Given the description of an element on the screen output the (x, y) to click on. 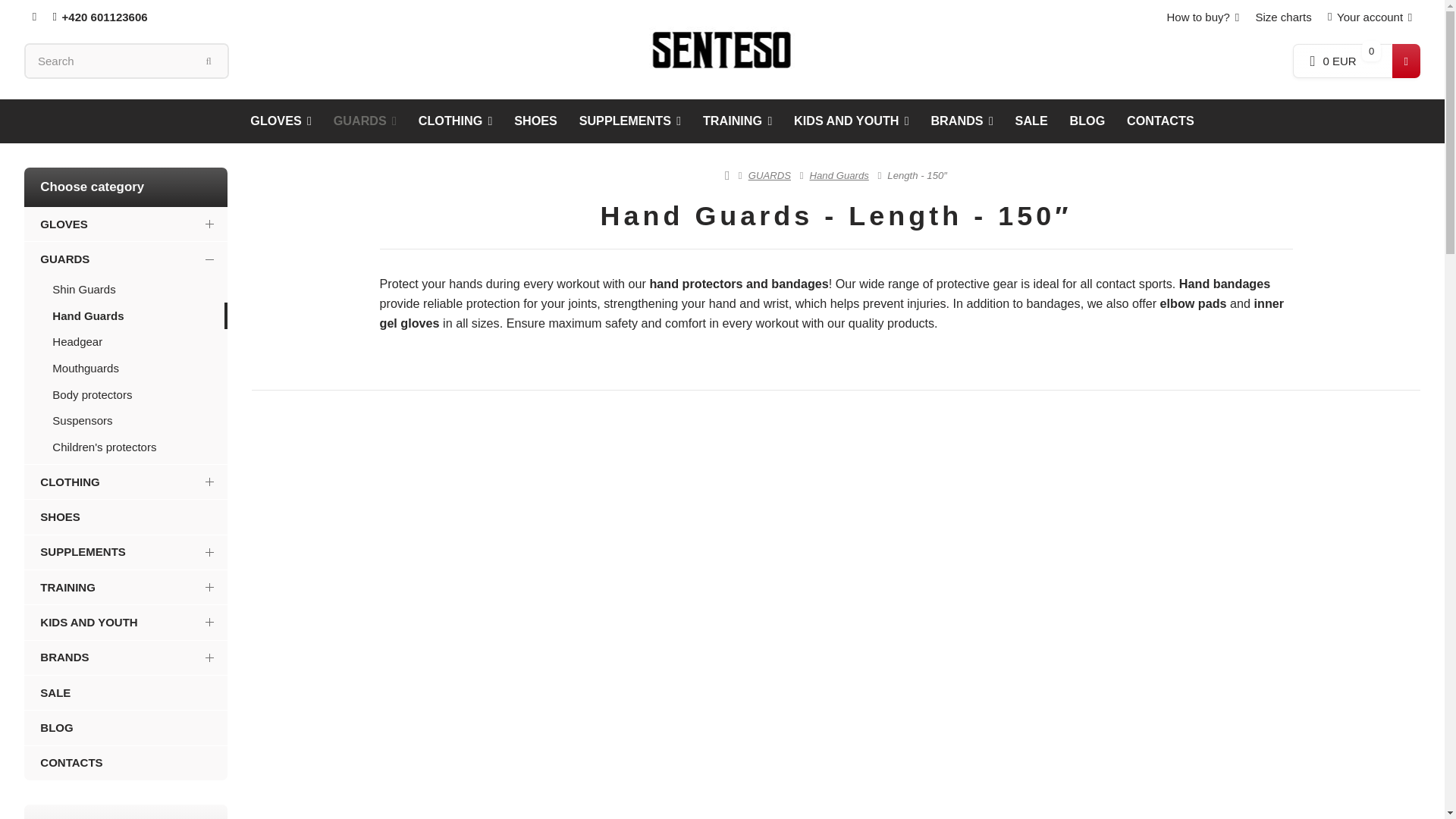
Your account (1370, 17)
Home (721, 49)
Size charts (1283, 17)
Phone (100, 17)
How to buy? (1202, 17)
